Given the description of an element on the screen output the (x, y) to click on. 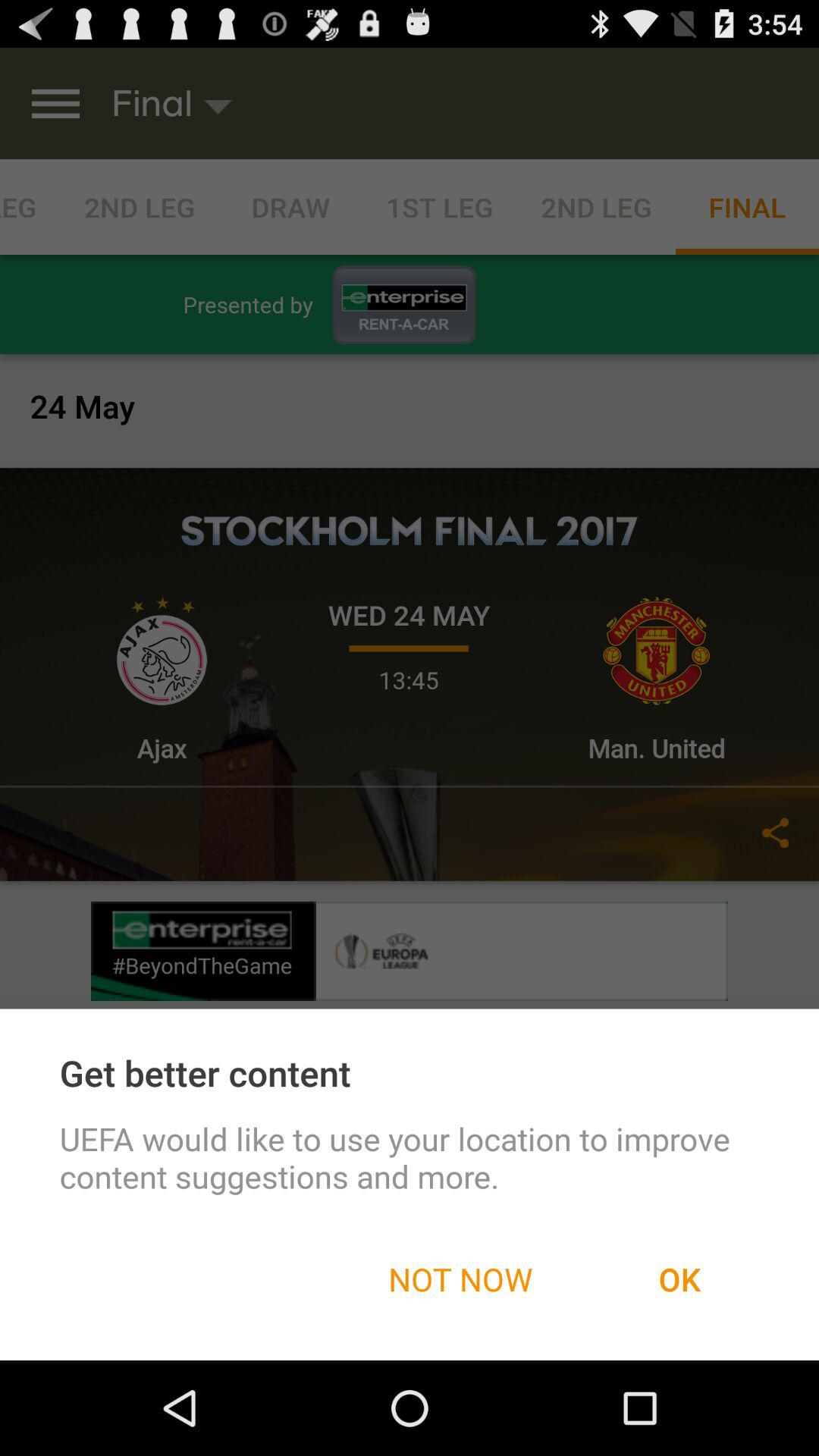
press the ok item (679, 1278)
